Given the description of an element on the screen output the (x, y) to click on. 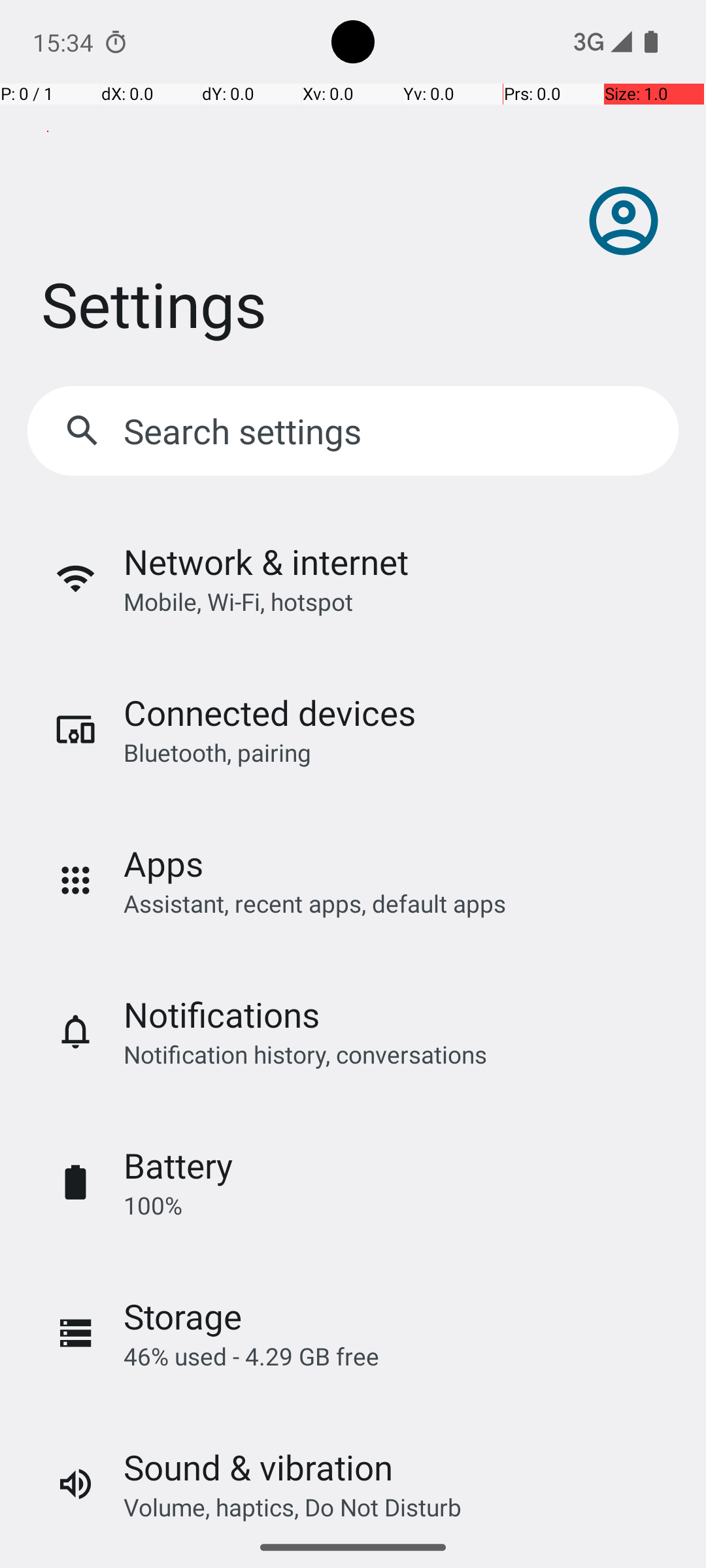
46% used - 4.29 GB free Element type: android.widget.TextView (251, 1355)
